Given the description of an element on the screen output the (x, y) to click on. 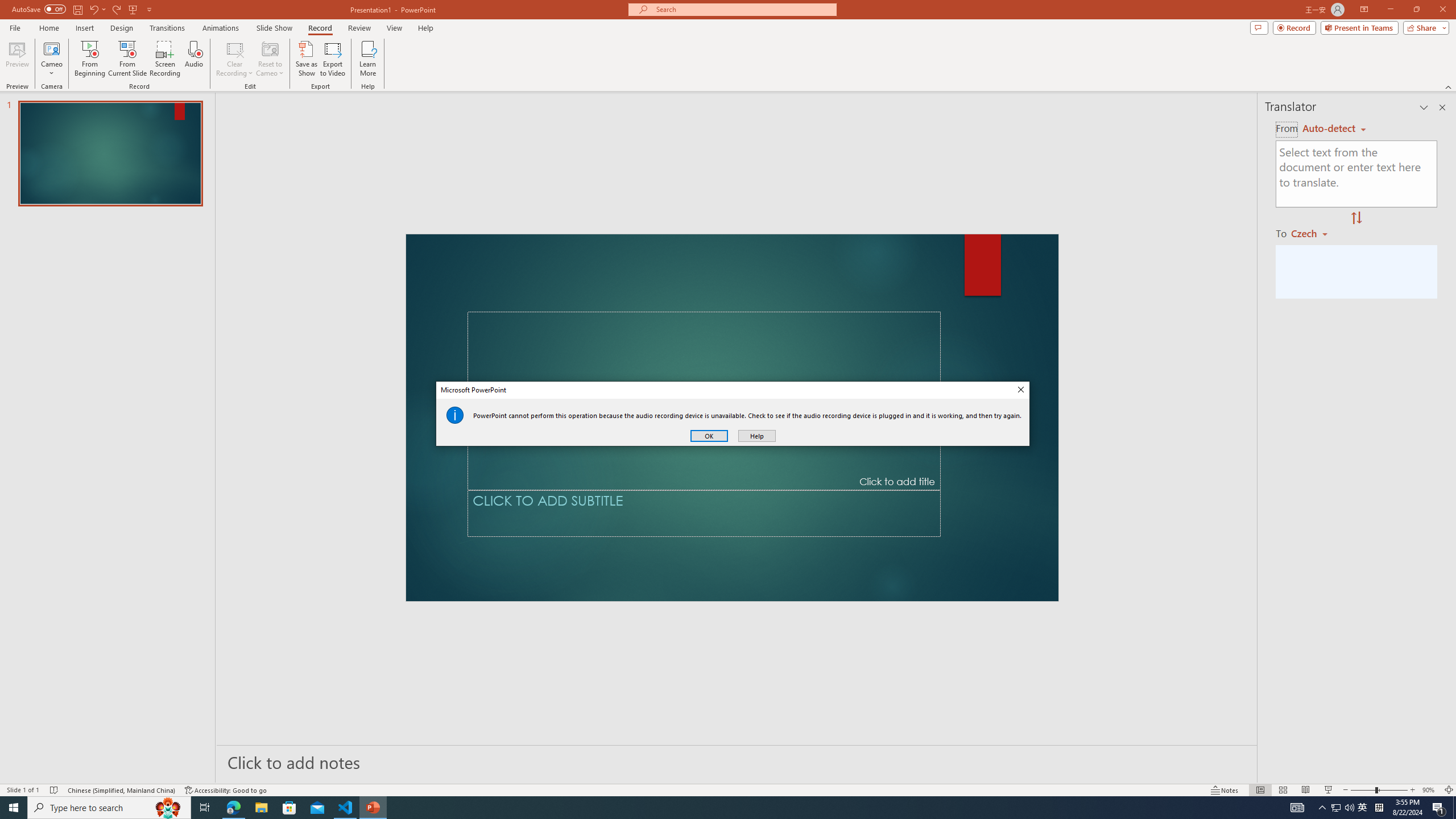
Clear Recording (234, 58)
